Given the description of an element on the screen output the (x, y) to click on. 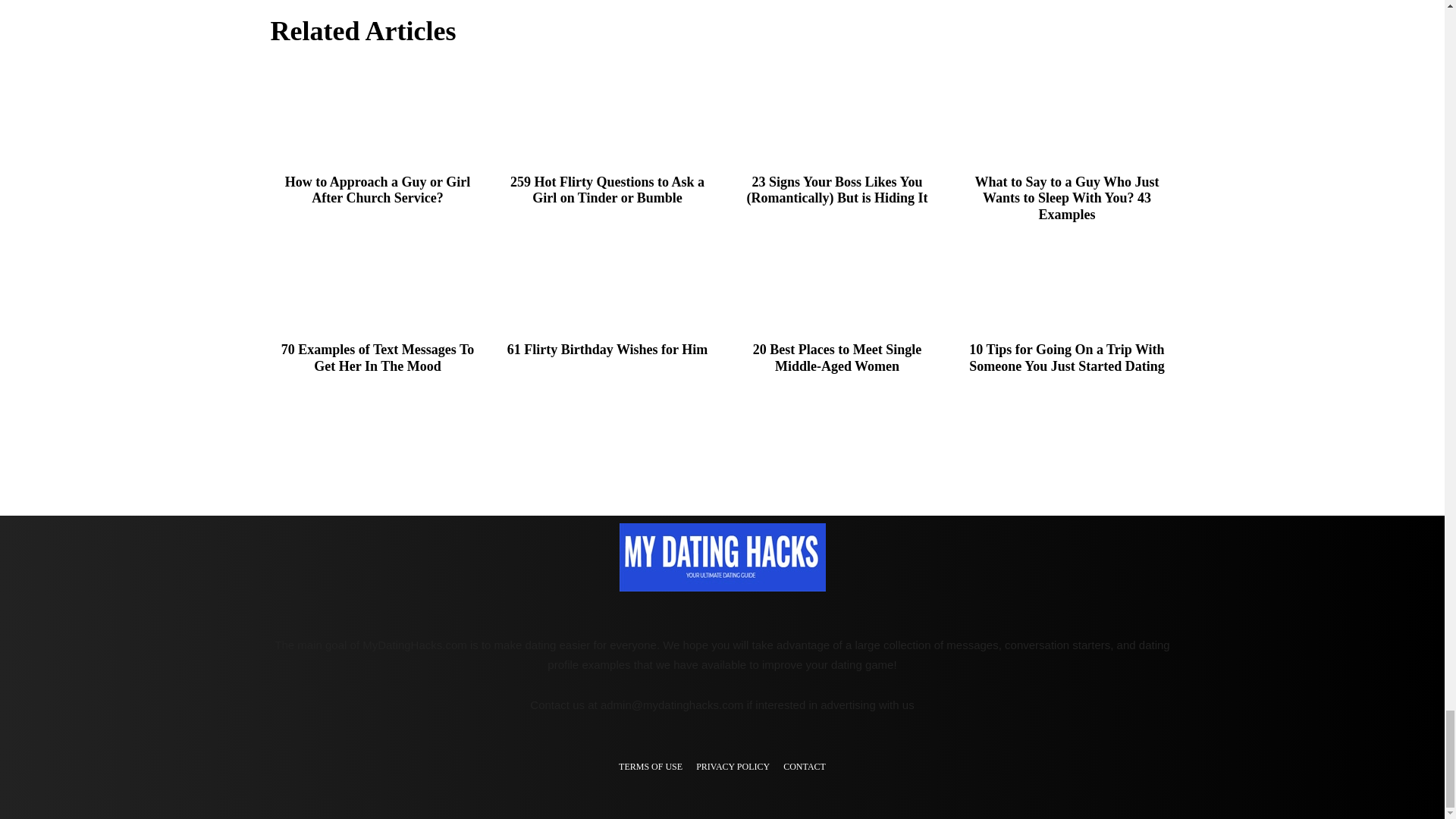
259 Hot Flirty Questions to Ask a Girl on Tinder or Bumble (607, 190)
259 Hot Flirty Questions to Ask a Girl on Tinder or Bumble (607, 113)
How to Approach a Guy or Girl After Church Service? (376, 113)
How to Approach a Guy or Girl After Church Service? (377, 190)
How to Approach a Guy or Girl After Church Service? (377, 190)
259 Hot Flirty Questions to Ask a Girl on Tinder or Bumble (607, 190)
